Given the description of an element on the screen output the (x, y) to click on. 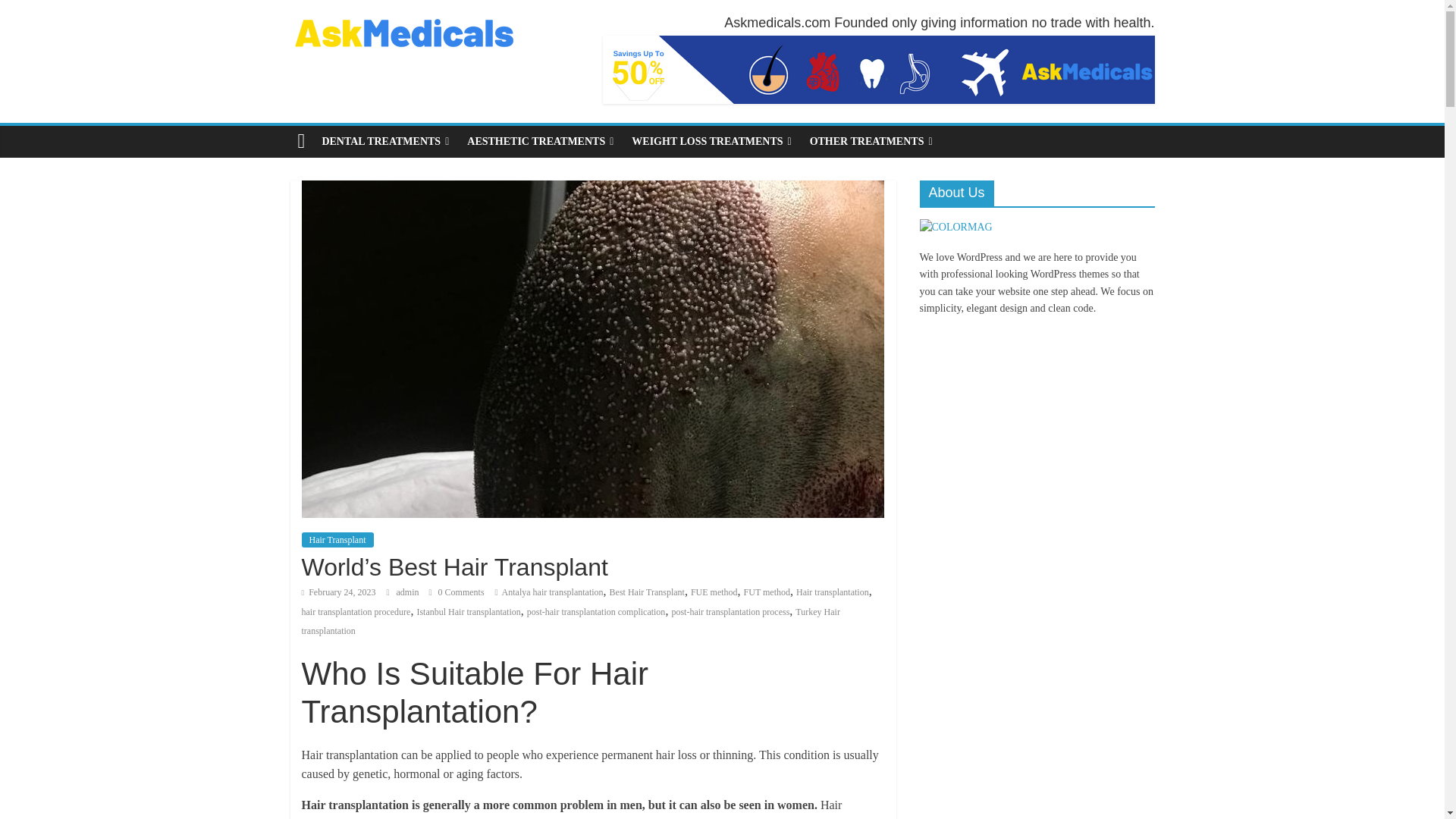
WEIGHT LOSS TREATMENTS (711, 142)
AESTHETIC TREATMENTS (540, 142)
OTHER TREATMENTS (871, 142)
admin (409, 592)
DENTAL TREATMENTS (385, 142)
8:06 pm (338, 592)
